Given the description of an element on the screen output the (x, y) to click on. 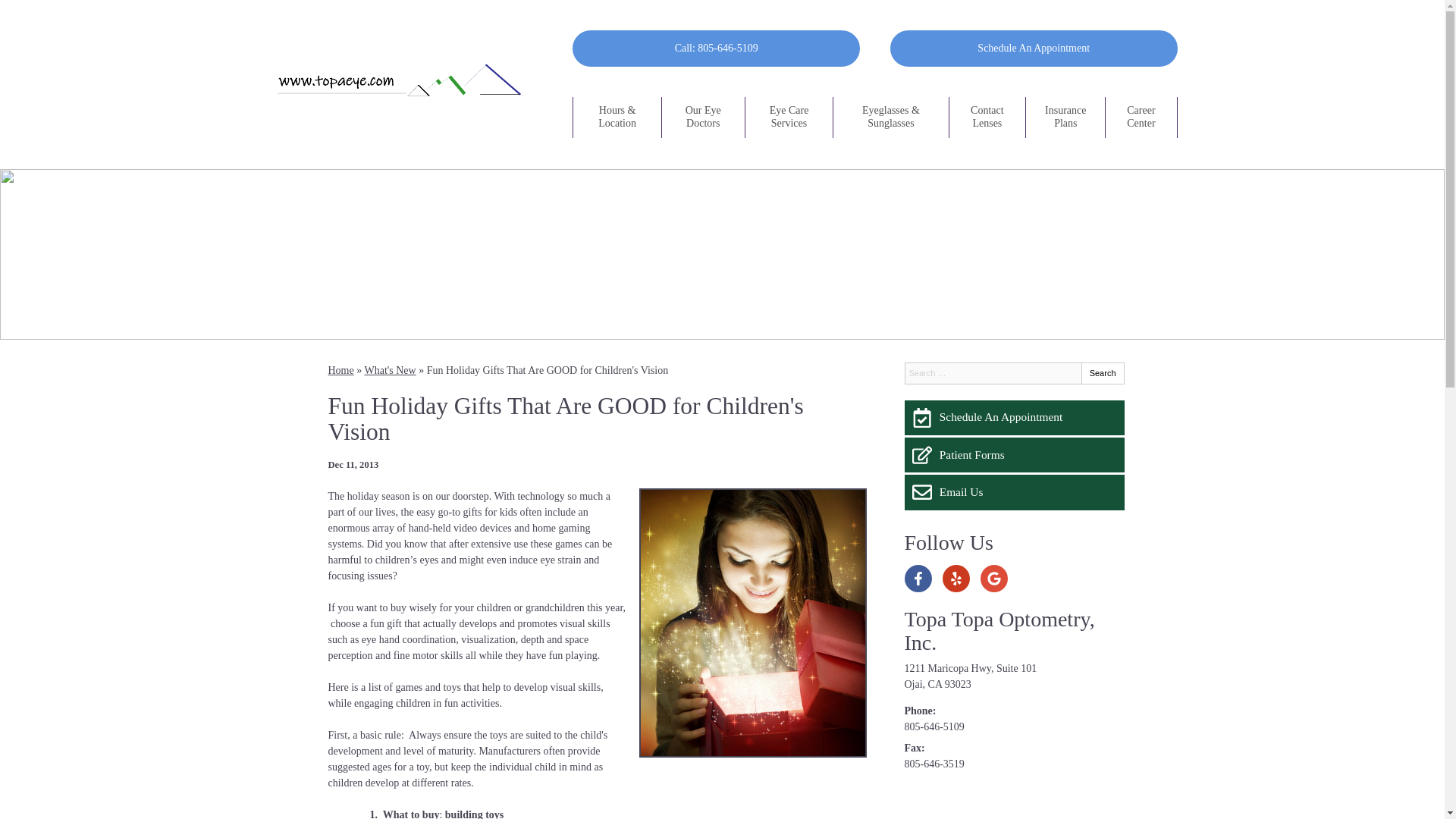
Search (1102, 373)
Our Eye Doctors (703, 117)
What's New (389, 369)
Patient Forms (1014, 454)
Contact Lenses (987, 117)
Eye Care Services (788, 117)
Home (340, 369)
Google map (1014, 800)
Call: 805-646-5109 (716, 48)
Schedule An Appointment (1033, 48)
Career Center (1140, 117)
Insurance Plans (1065, 117)
Schedule An Appointment (1014, 417)
